Given the description of an element on the screen output the (x, y) to click on. 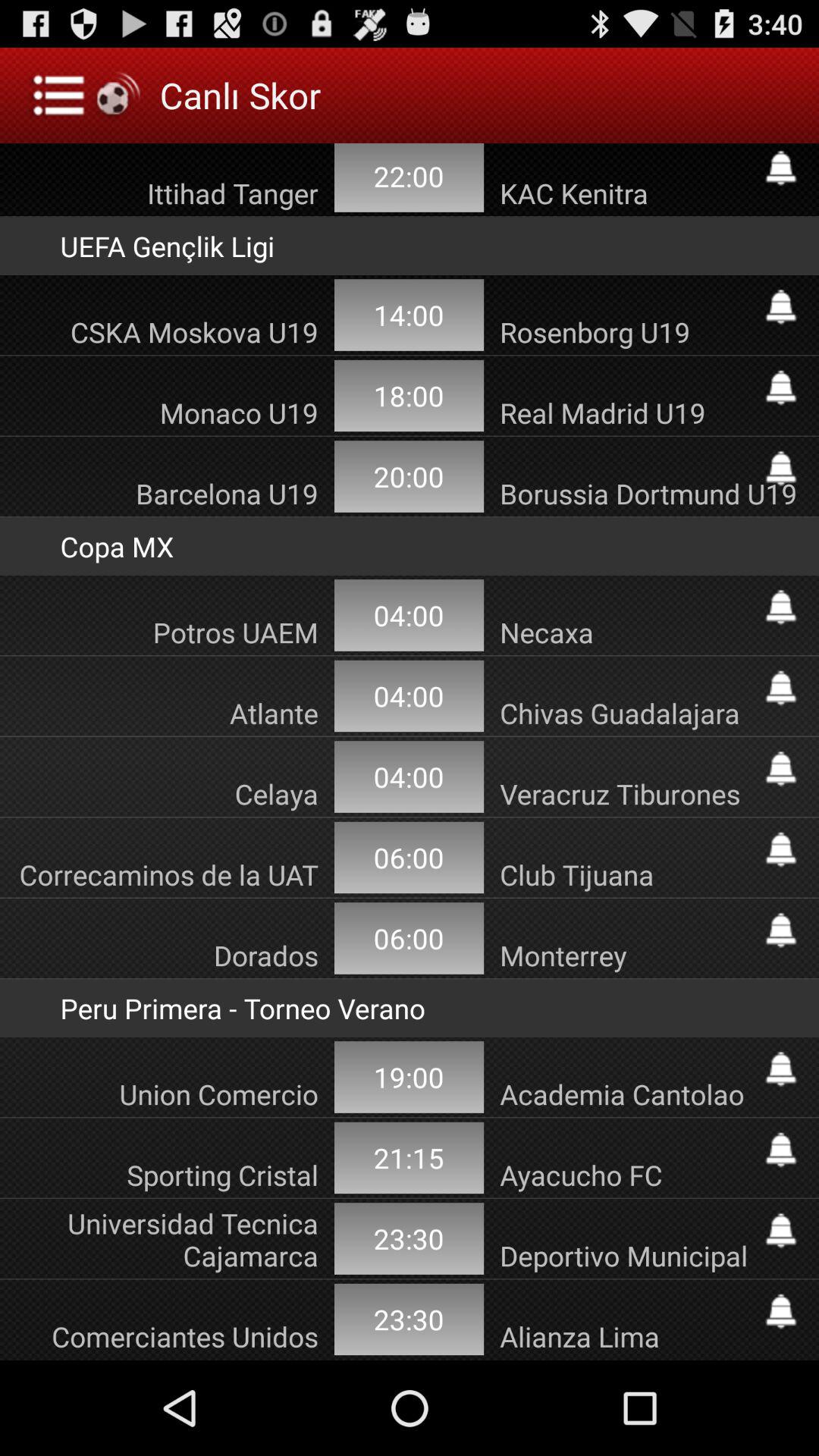
set an alert (780, 688)
